Given the description of an element on the screen output the (x, y) to click on. 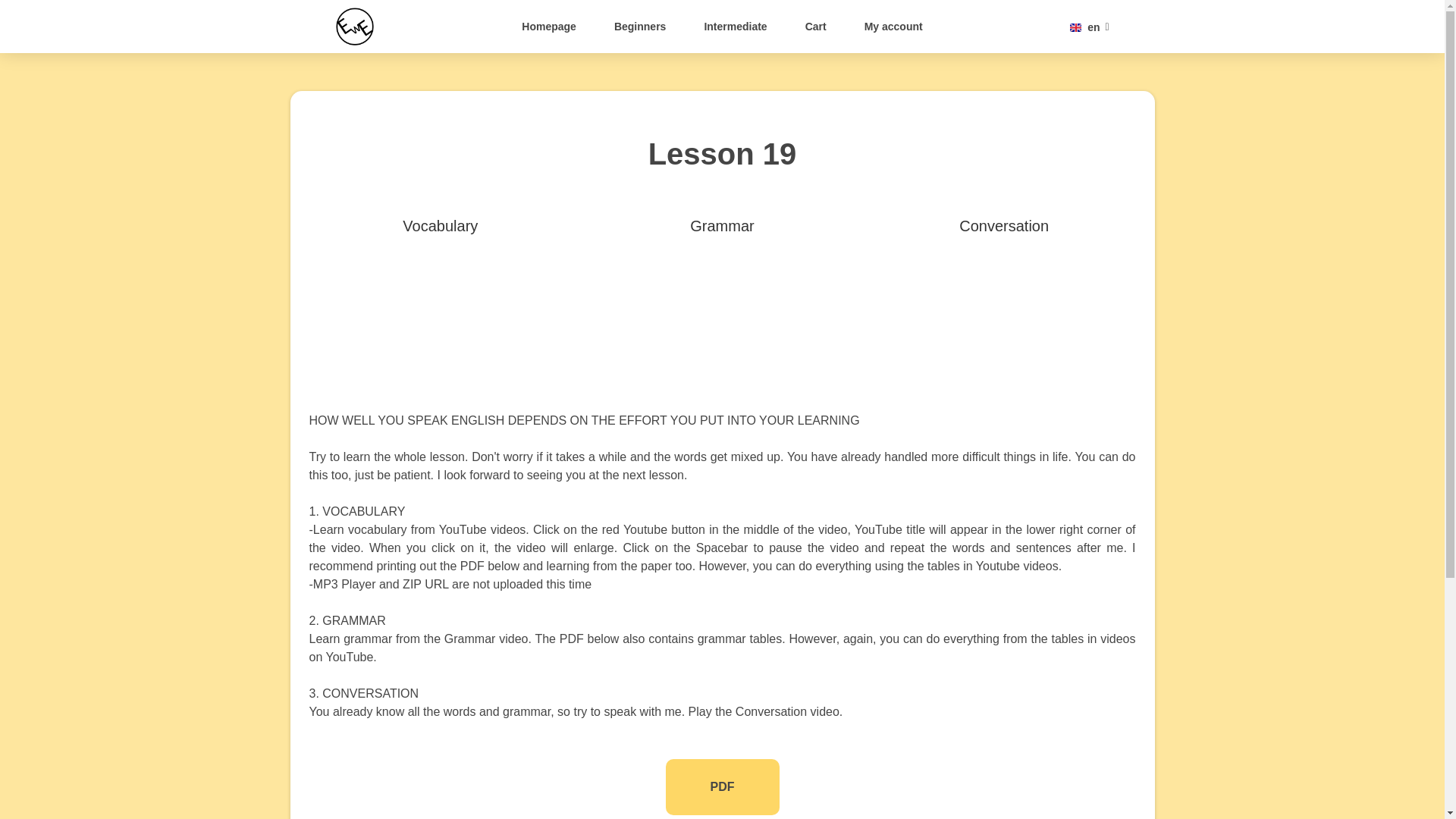
en (1089, 27)
Cart (815, 26)
Beginners (639, 26)
PDF (721, 786)
Intermediate (734, 26)
My account (892, 26)
Homepage (548, 26)
